Given the description of an element on the screen output the (x, y) to click on. 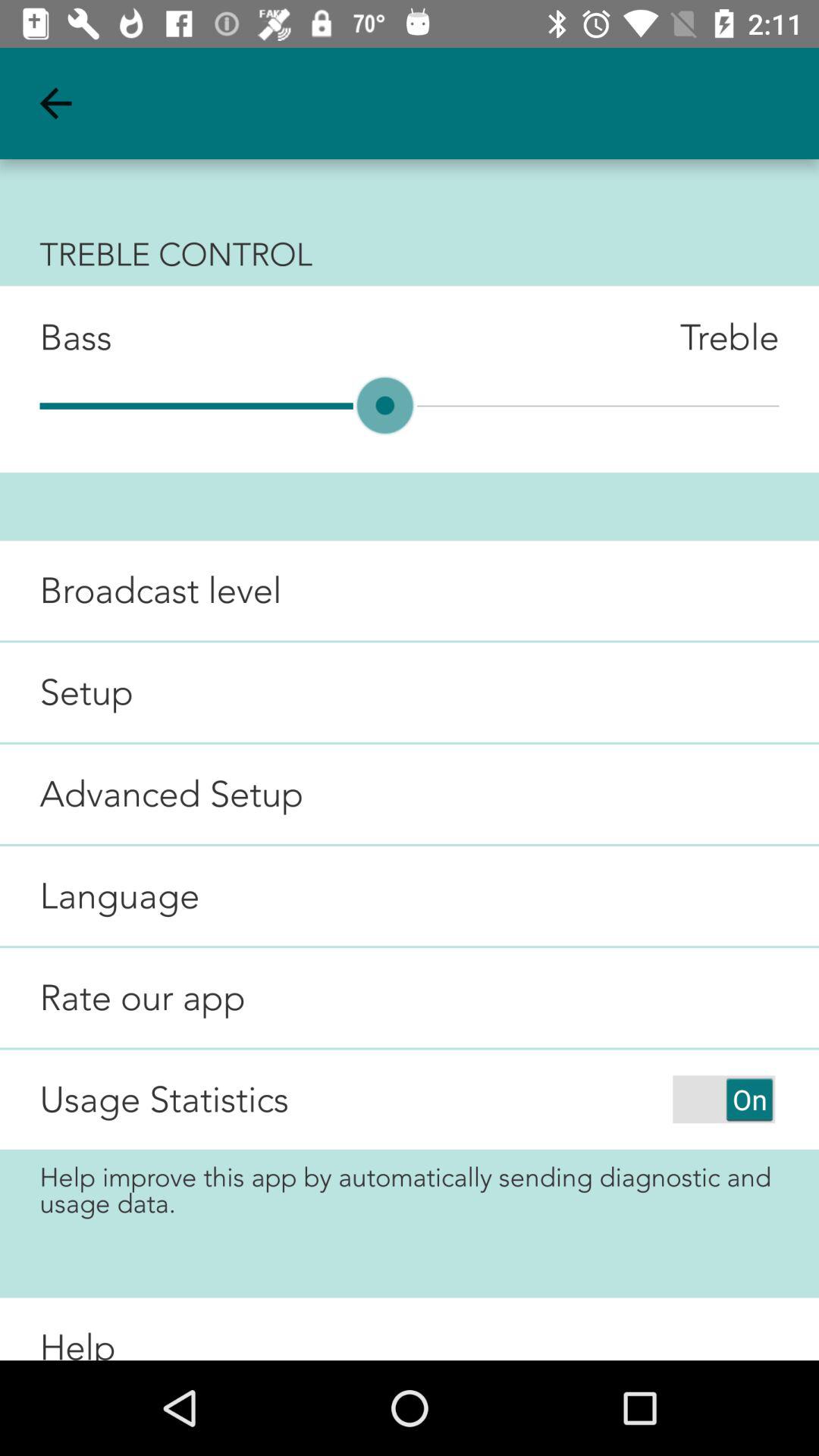
open item next to usage statistics (723, 1099)
